Given the description of an element on the screen output the (x, y) to click on. 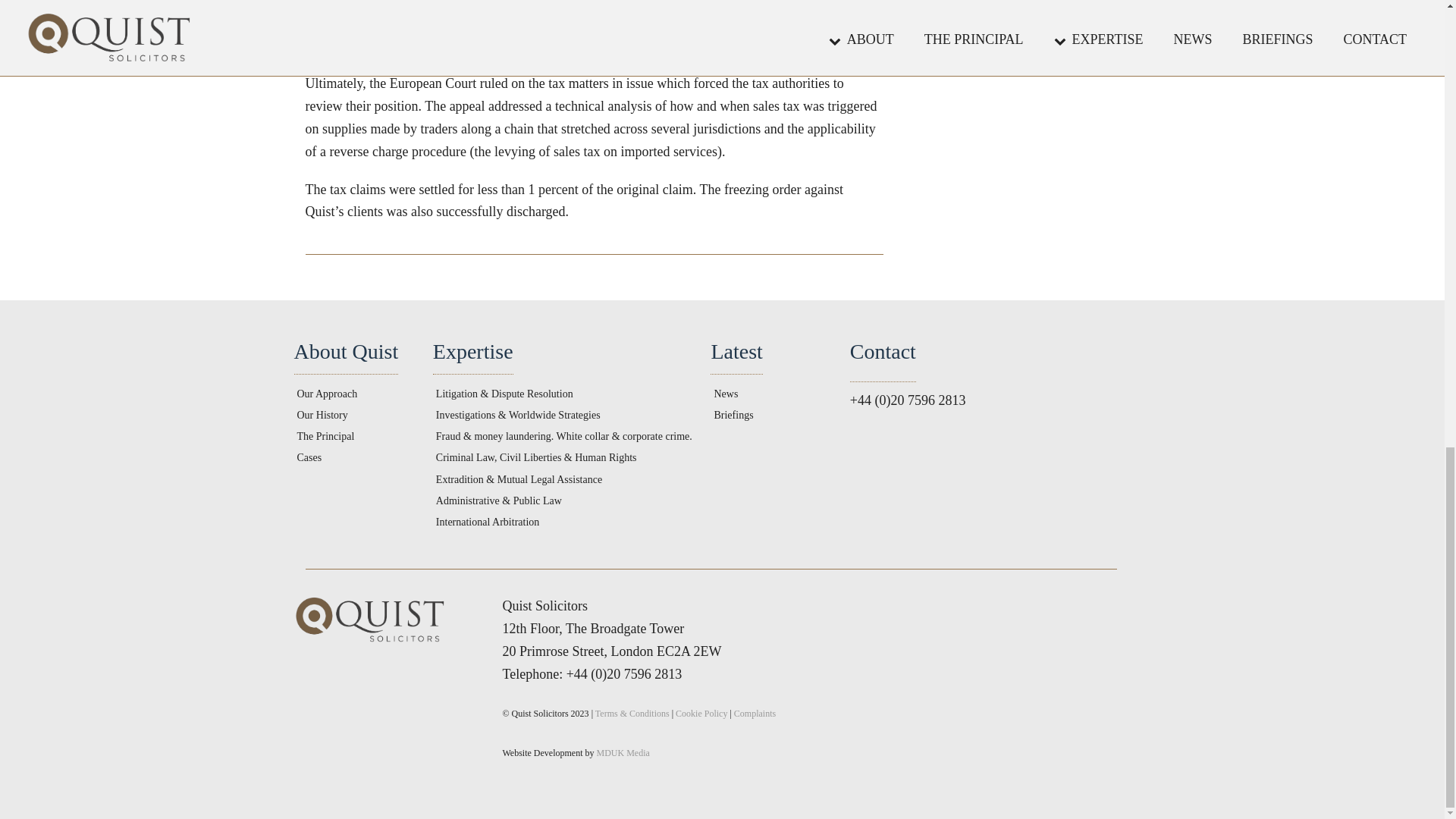
The Principal (326, 436)
Our History (322, 415)
Cases (309, 458)
Our Approach (327, 394)
